Given the description of an element on the screen output the (x, y) to click on. 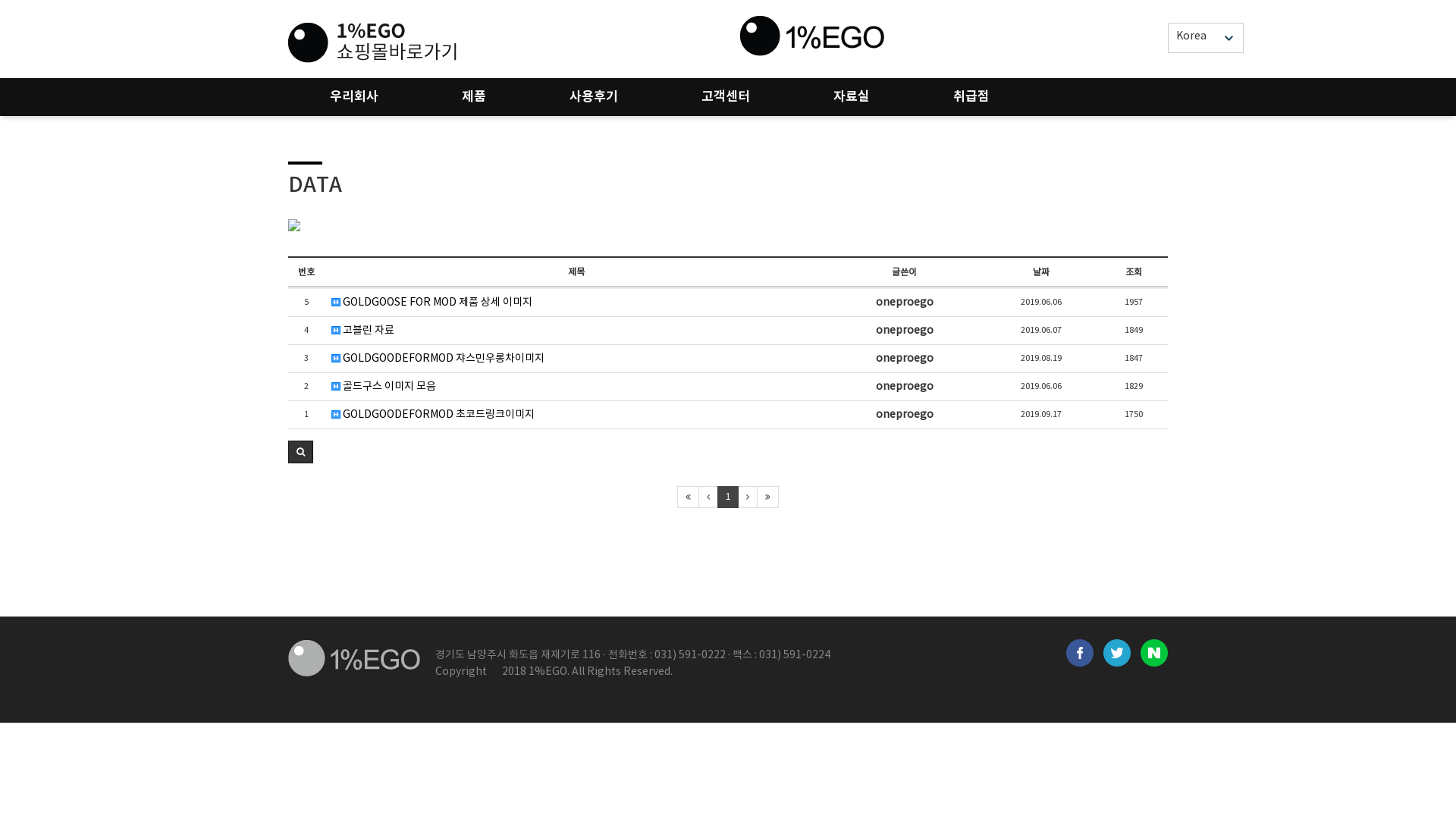
1 Element type: text (728, 497)
